Given the description of an element on the screen output the (x, y) to click on. 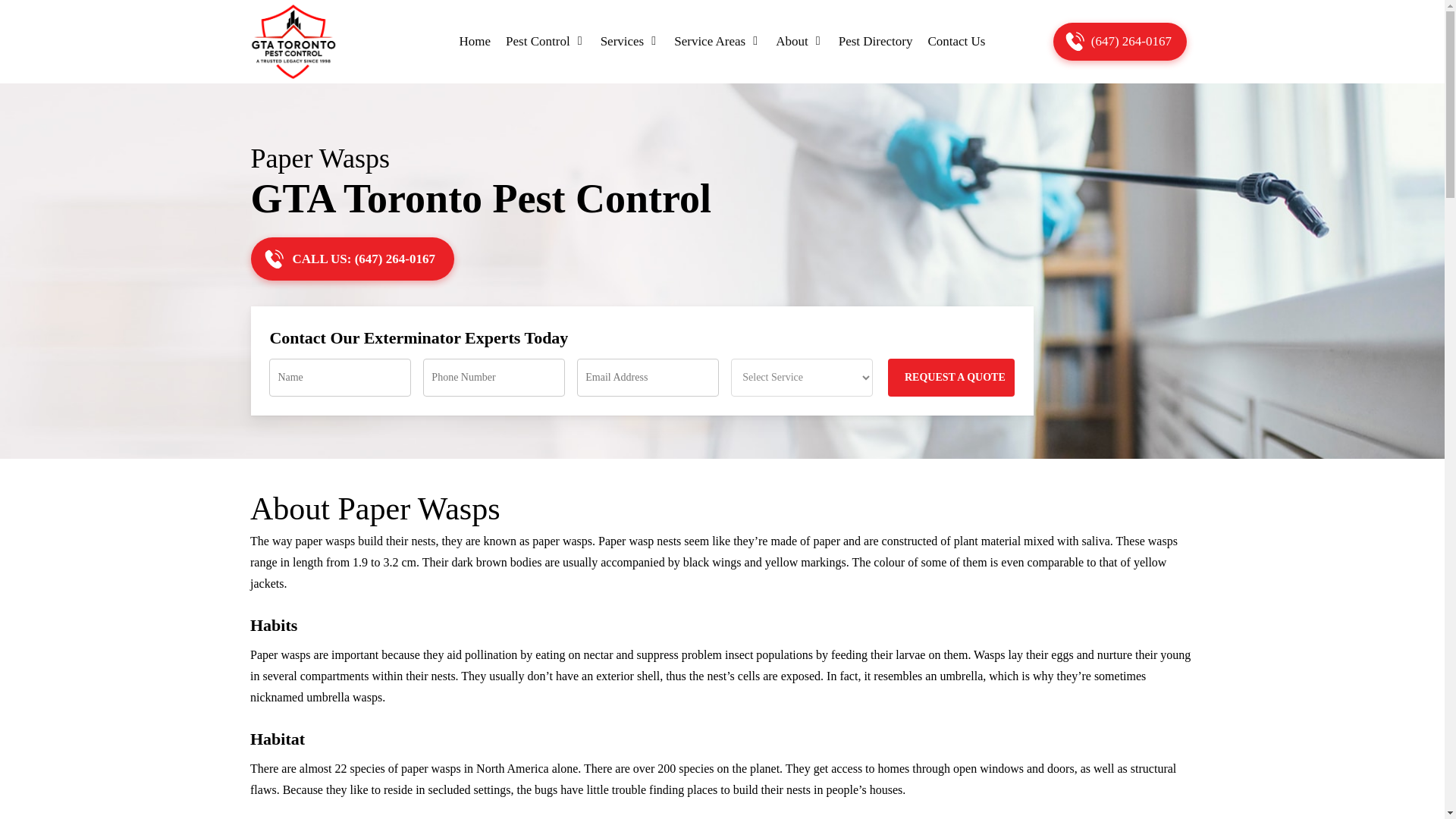
Pest Control (544, 41)
Service Areas (717, 41)
Request a Quote (951, 377)
Services (629, 41)
Home (475, 41)
